Given the description of an element on the screen output the (x, y) to click on. 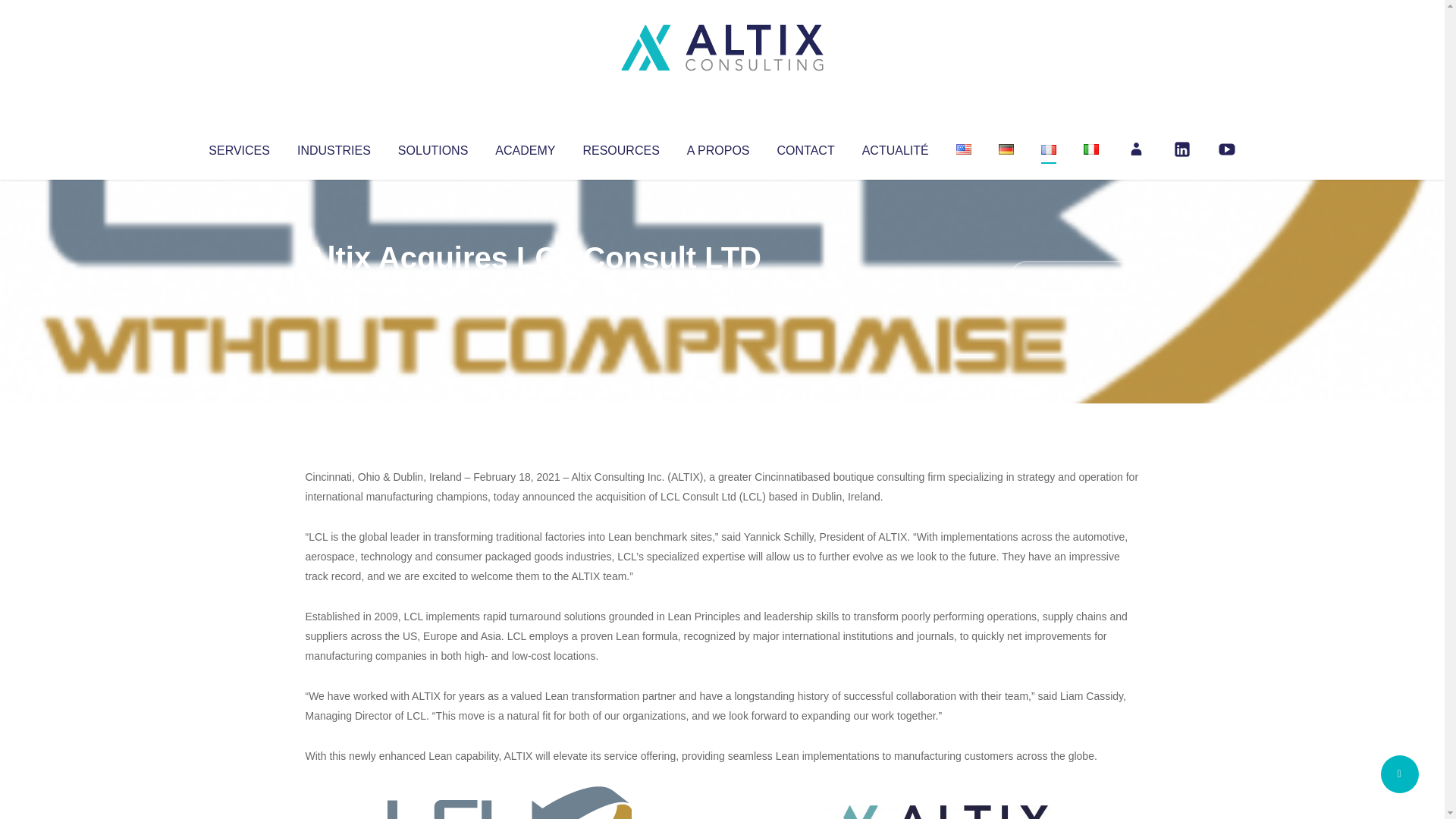
ACADEMY (524, 146)
A PROPOS (718, 146)
Altix (333, 287)
Articles par Altix (333, 287)
SERVICES (238, 146)
SOLUTIONS (432, 146)
No Comments (1073, 278)
RESOURCES (620, 146)
Uncategorized (530, 287)
INDUSTRIES (334, 146)
